Given the description of an element on the screen output the (x, y) to click on. 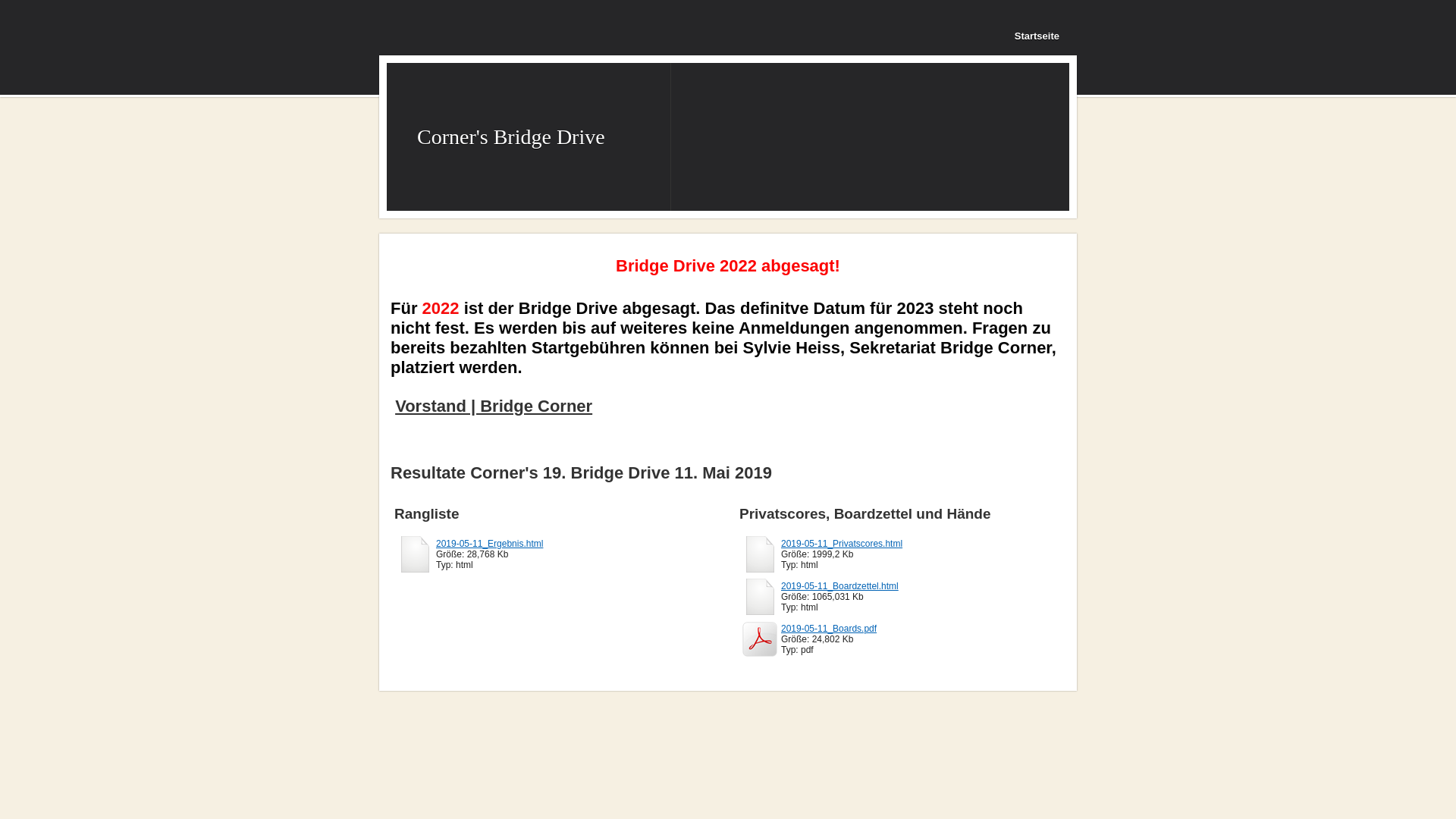
2019-05-11_Boardzettel.html Element type: text (839, 585)
2019-05-11_Privatscores.html Element type: text (841, 543)
Corner's Bridge Drive Element type: text (511, 135)
Startseite Element type: text (1045, 35)
2019-05-11_Boards.pdf Element type: text (828, 628)
2019-05-11_Ergebnis.html Element type: text (489, 543)
Vorstand | Bridge Corner Element type: text (493, 405)
